Given the description of an element on the screen output the (x, y) to click on. 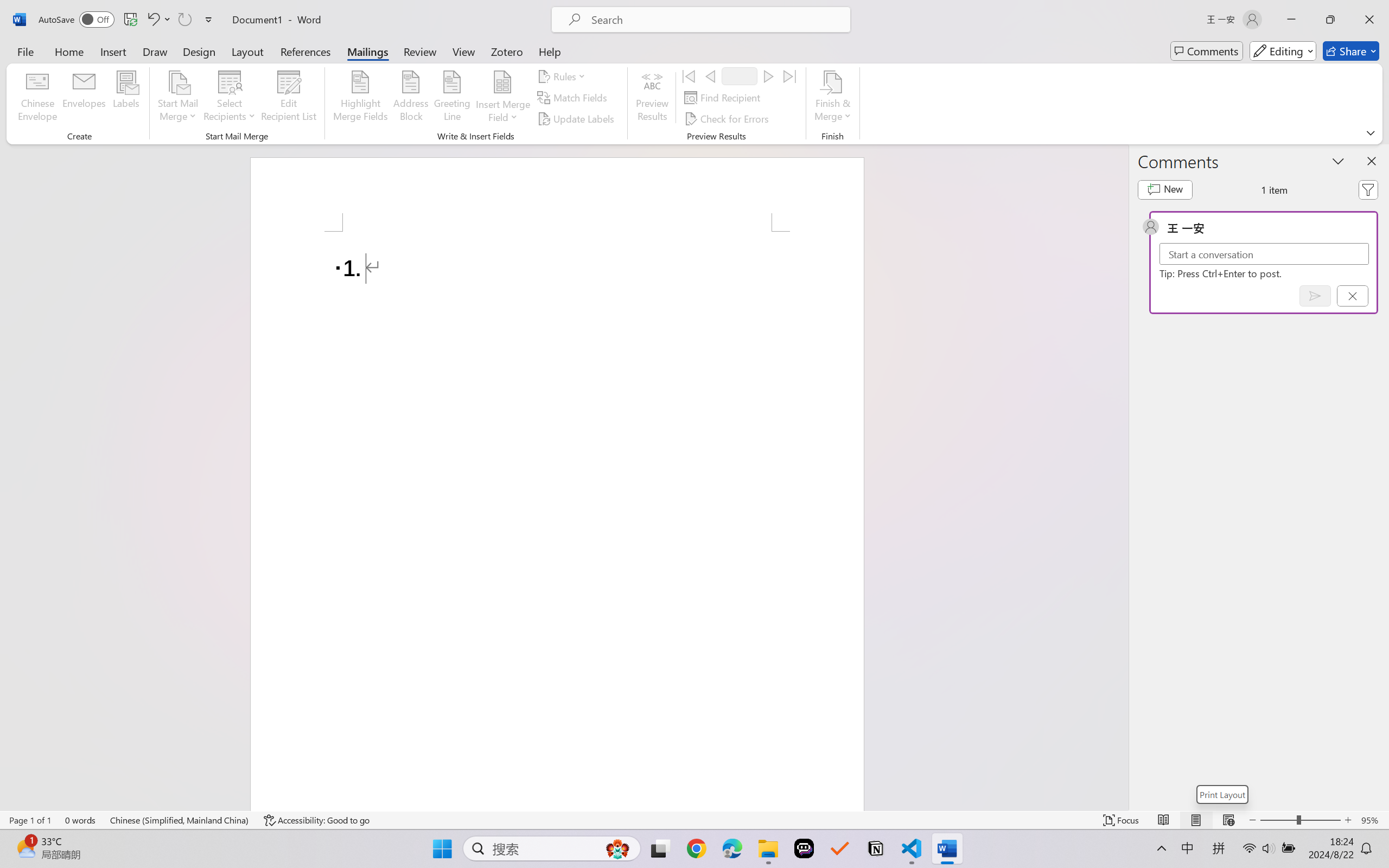
Check for Errors... (728, 118)
Next (768, 75)
Post comment (Ctrl + Enter) (1315, 295)
Language Chinese (Simplified, Mainland China) (179, 819)
Match Fields... (573, 97)
